Given the description of an element on the screen output the (x, y) to click on. 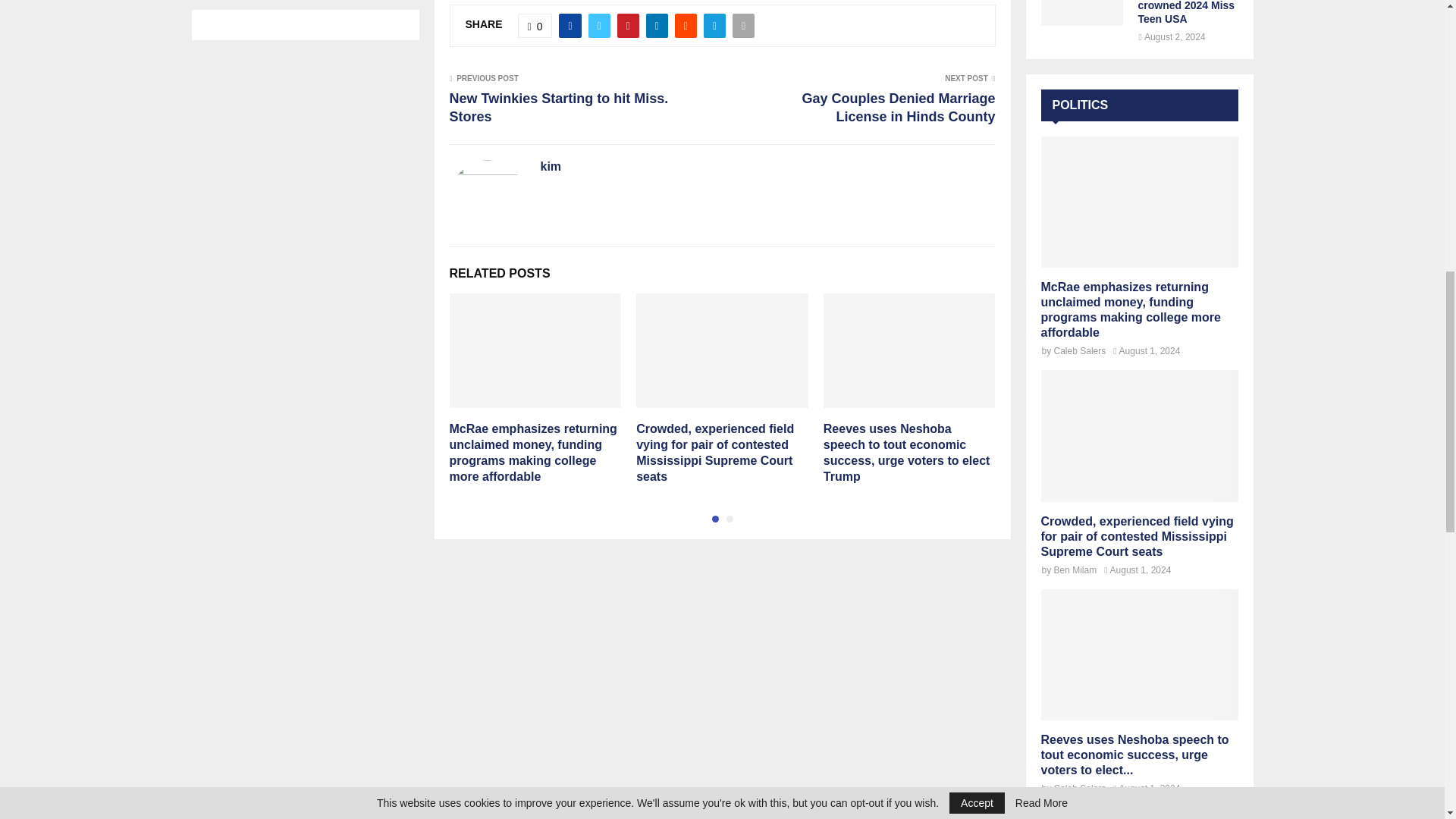
Posts by kim (550, 166)
Like (535, 25)
